Given the description of an element on the screen output the (x, y) to click on. 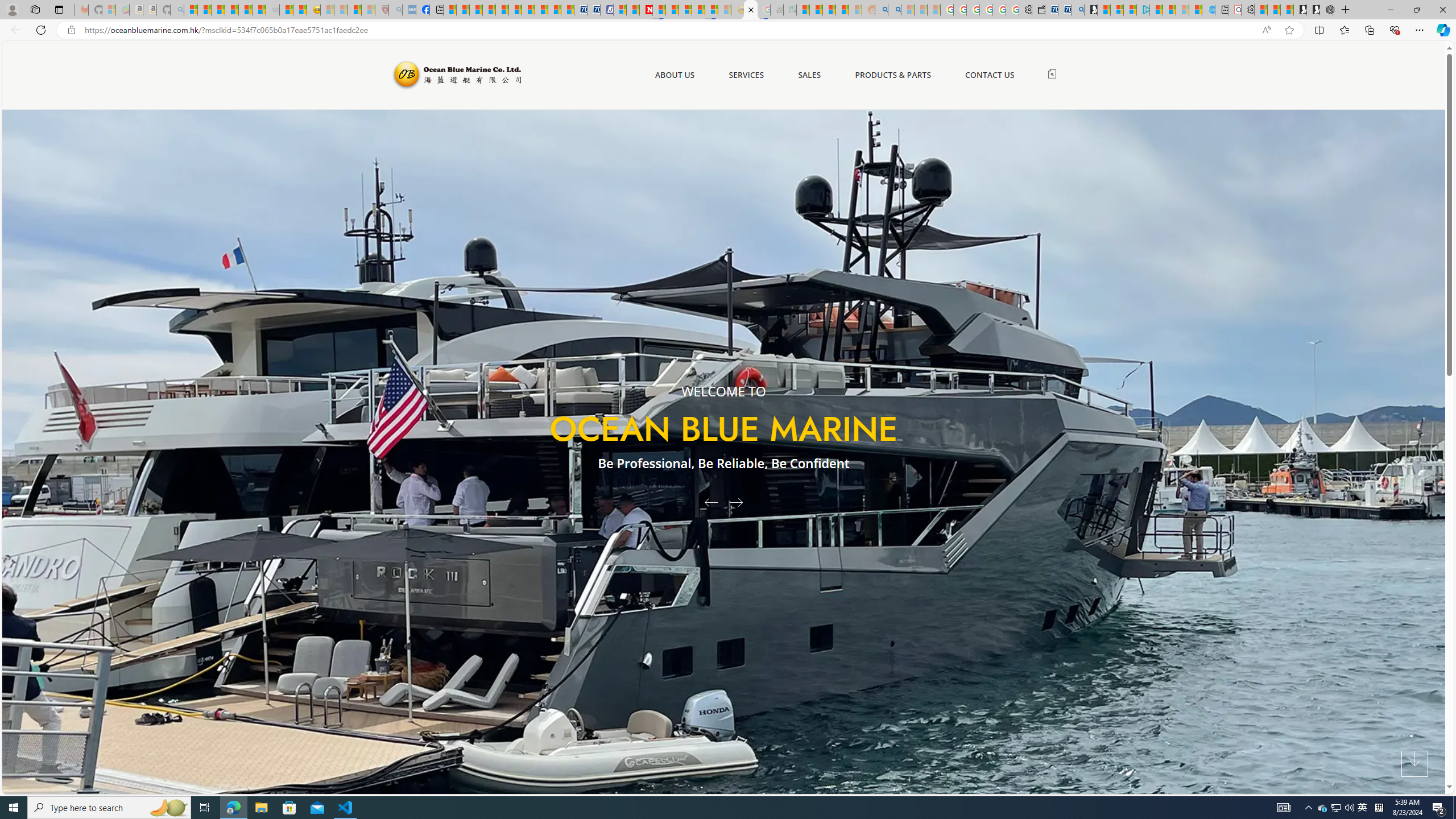
PRODUCTS & PARTS (892, 74)
Latest Politics News & Archive | Newsweek.com (646, 9)
Previous Slide (706, 501)
Ocean Blue Marine (455, 74)
PRODUCTS & PARTS (892, 75)
